Given the description of an element on the screen output the (x, y) to click on. 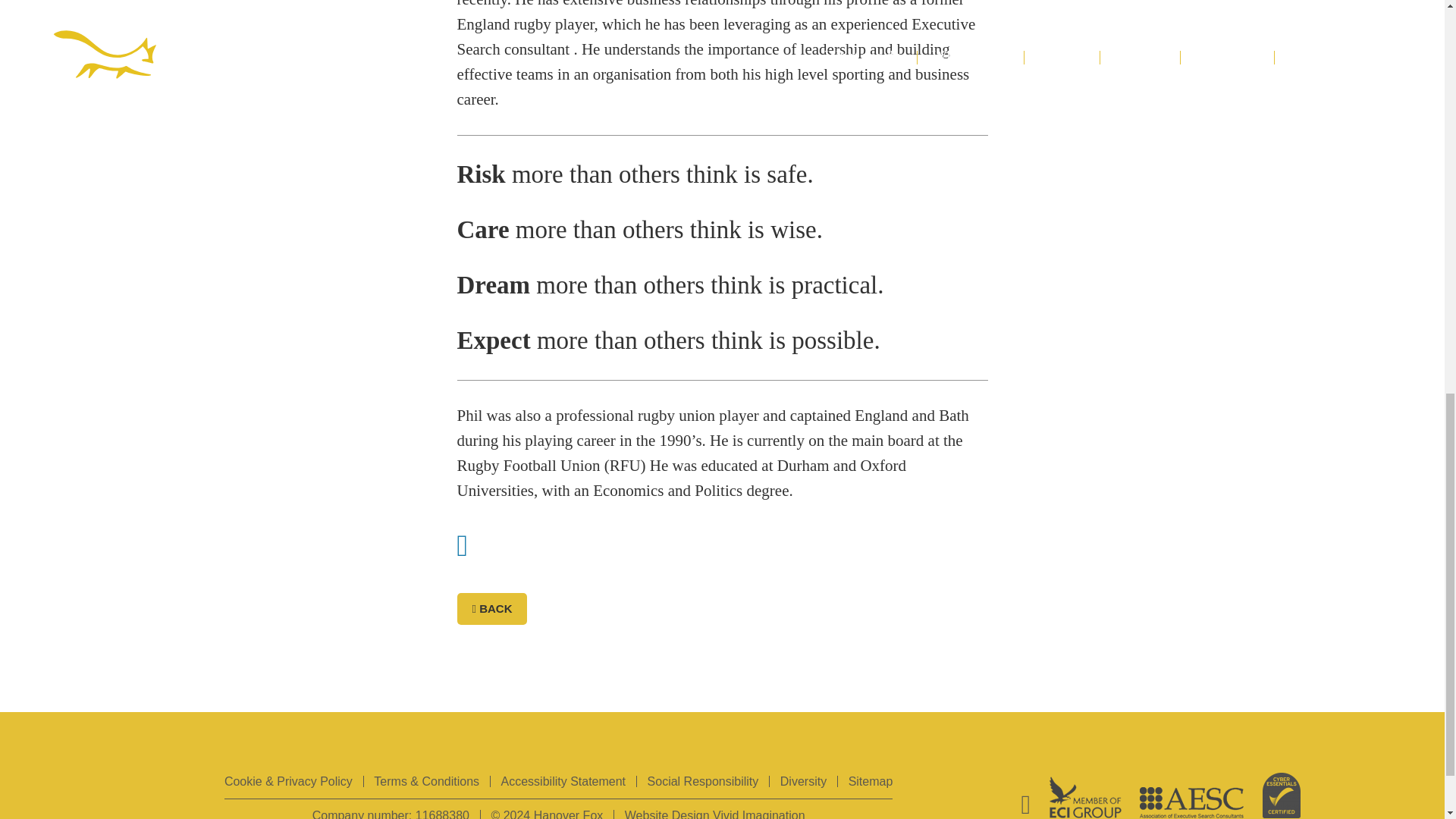
Accessibility Statement (563, 780)
BACK (492, 608)
Social Responsibility (702, 780)
Website Design Vivid Imagination (714, 814)
Diversity (803, 780)
Sitemap (870, 780)
